Given the description of an element on the screen output the (x, y) to click on. 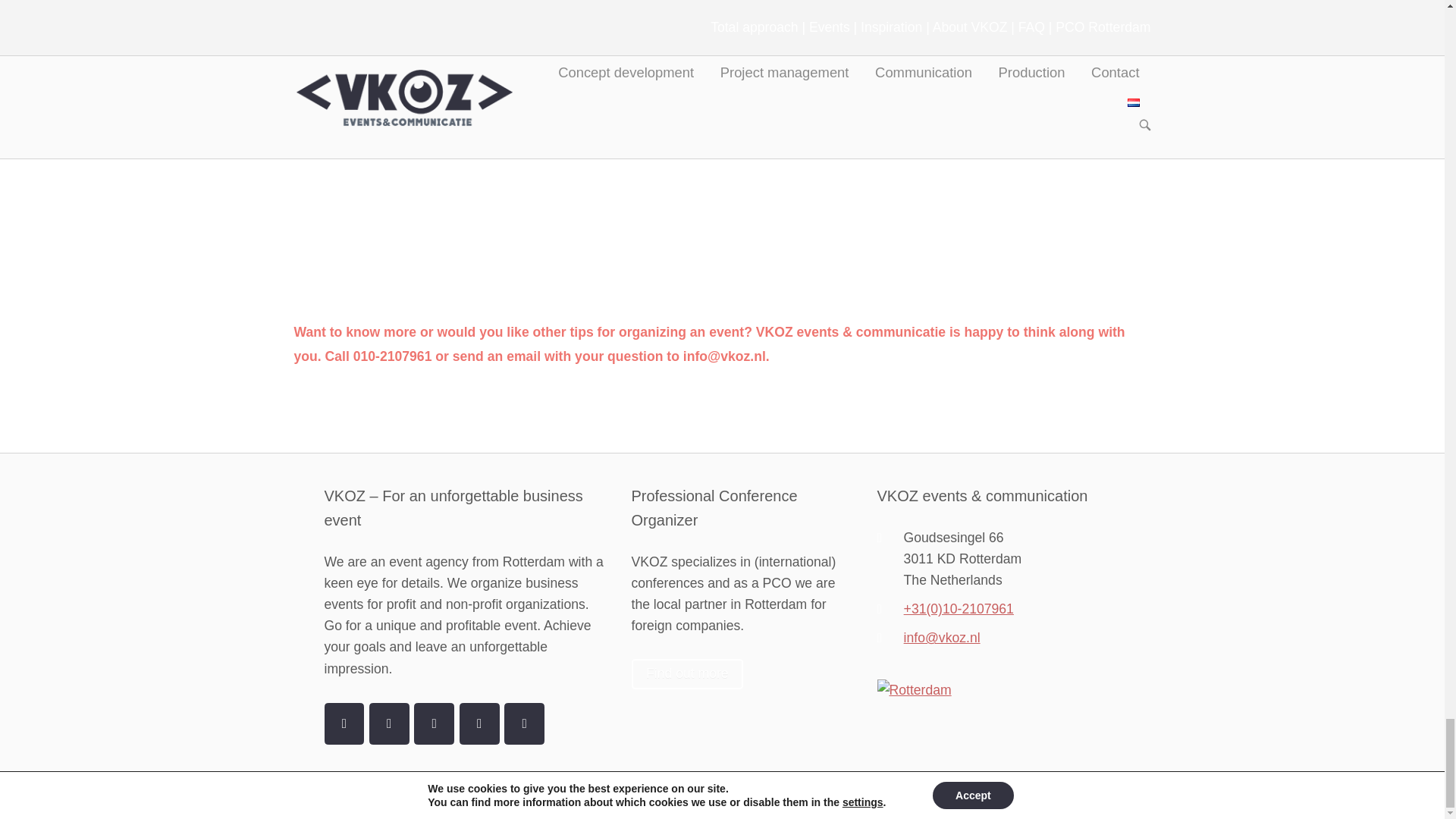
VKOZ on Facebook (344, 723)
VKOZ on Youtube (433, 723)
VKOZ on Linkedin (479, 723)
VKOZ on X Twitter (389, 723)
VKOZ on Instagram (523, 723)
